Given the description of an element on the screen output the (x, y) to click on. 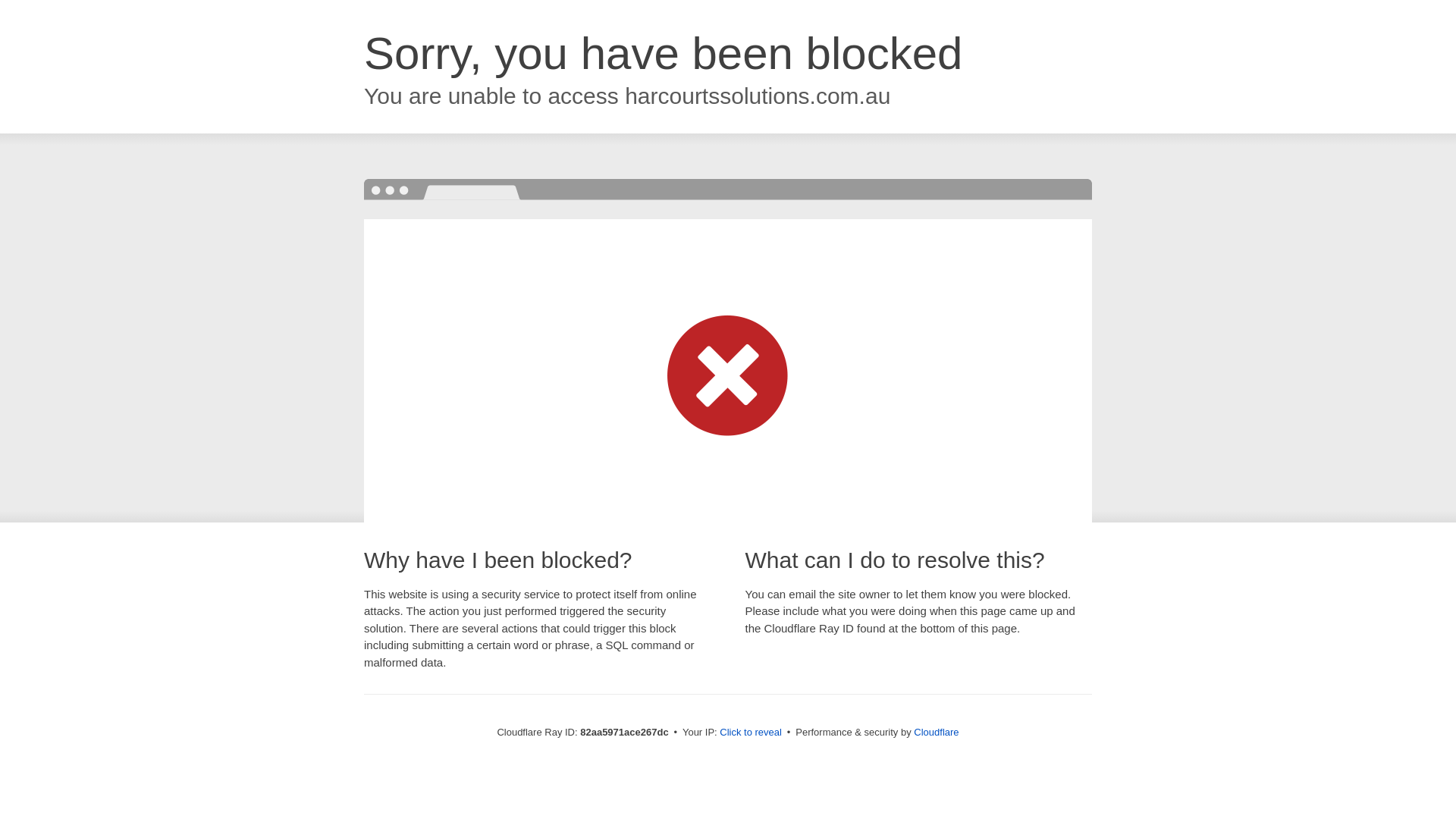
Click to reveal Element type: text (750, 732)
Cloudflare Element type: text (935, 731)
